Given the description of an element on the screen output the (x, y) to click on. 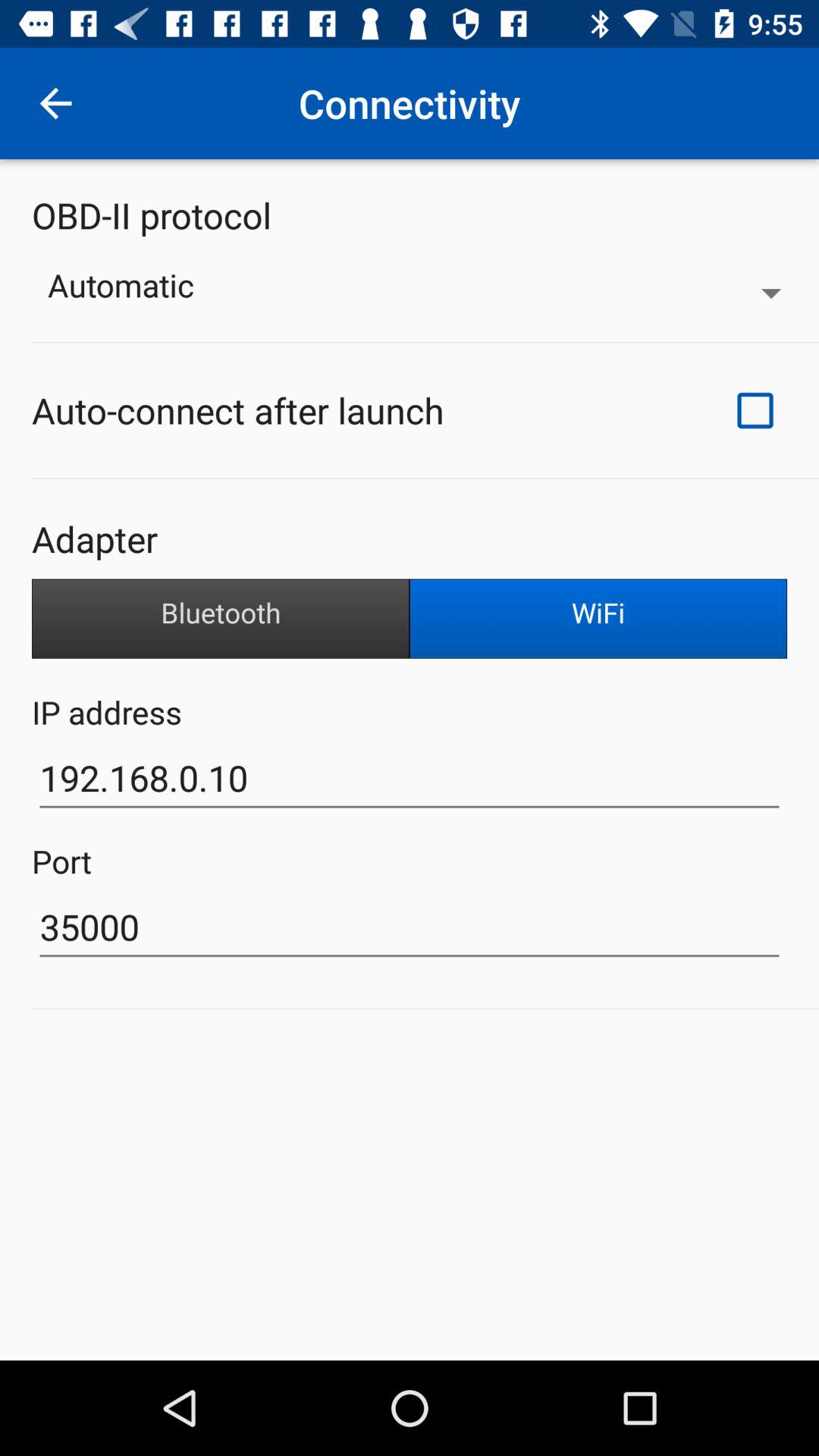
turn off the icon next to the connectivity icon (55, 103)
